Given the description of an element on the screen output the (x, y) to click on. 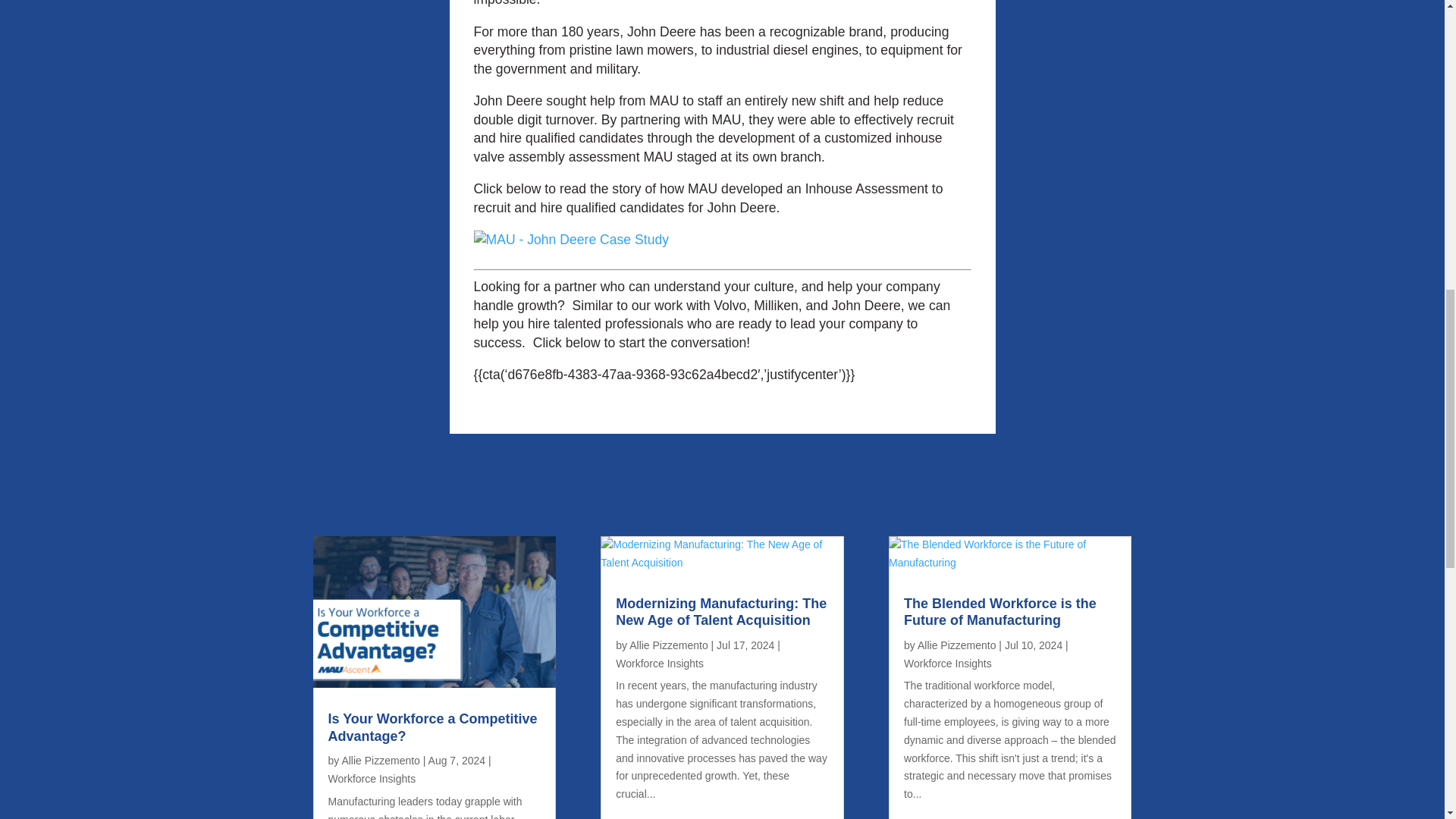
Workforce Insights (659, 663)
Allie Pizzemento (667, 645)
Posts by Allie Pizzemento (667, 645)
Posts by Allie Pizzemento (956, 645)
Is Your Workforce a Competitive Advantage? (432, 727)
Allie Pizzemento (956, 645)
Workforce Insights (947, 663)
Workforce Insights (370, 778)
Modernizing Manufacturing: The New Age of Talent Acquisition (721, 612)
Allie Pizzemento (380, 760)
